Given the description of an element on the screen output the (x, y) to click on. 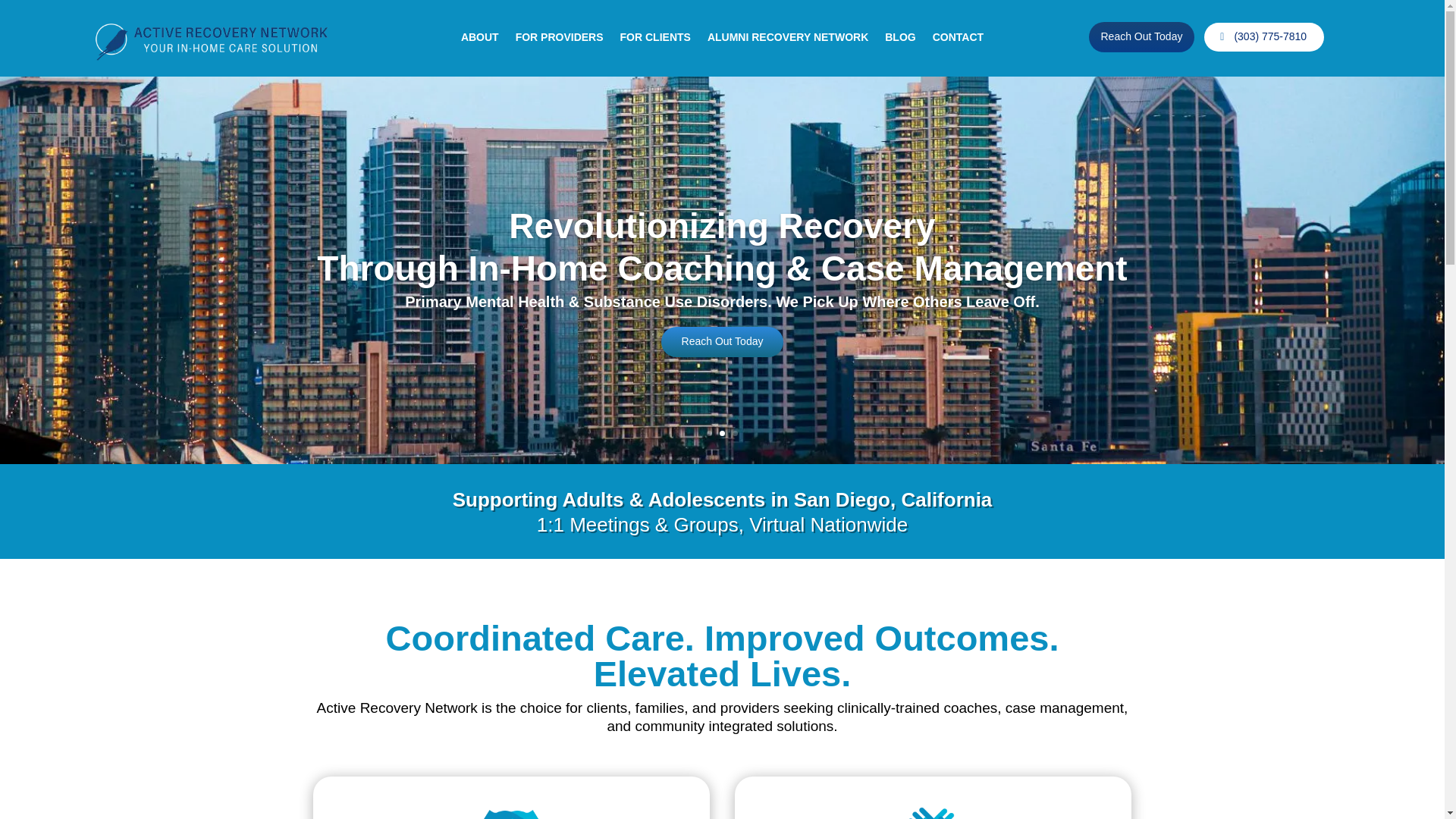
Reach Out Today (1142, 37)
Reach Out Today (722, 347)
website (211, 40)
FOR PROVIDERS (559, 39)
Revolutionizing Recovery (721, 235)
ABOUT (480, 39)
ALUMNI RECOVERY NETWORK (787, 39)
BLOG (900, 39)
FOR CLIENTS (655, 39)
CONTACT (958, 39)
